Given the description of an element on the screen output the (x, y) to click on. 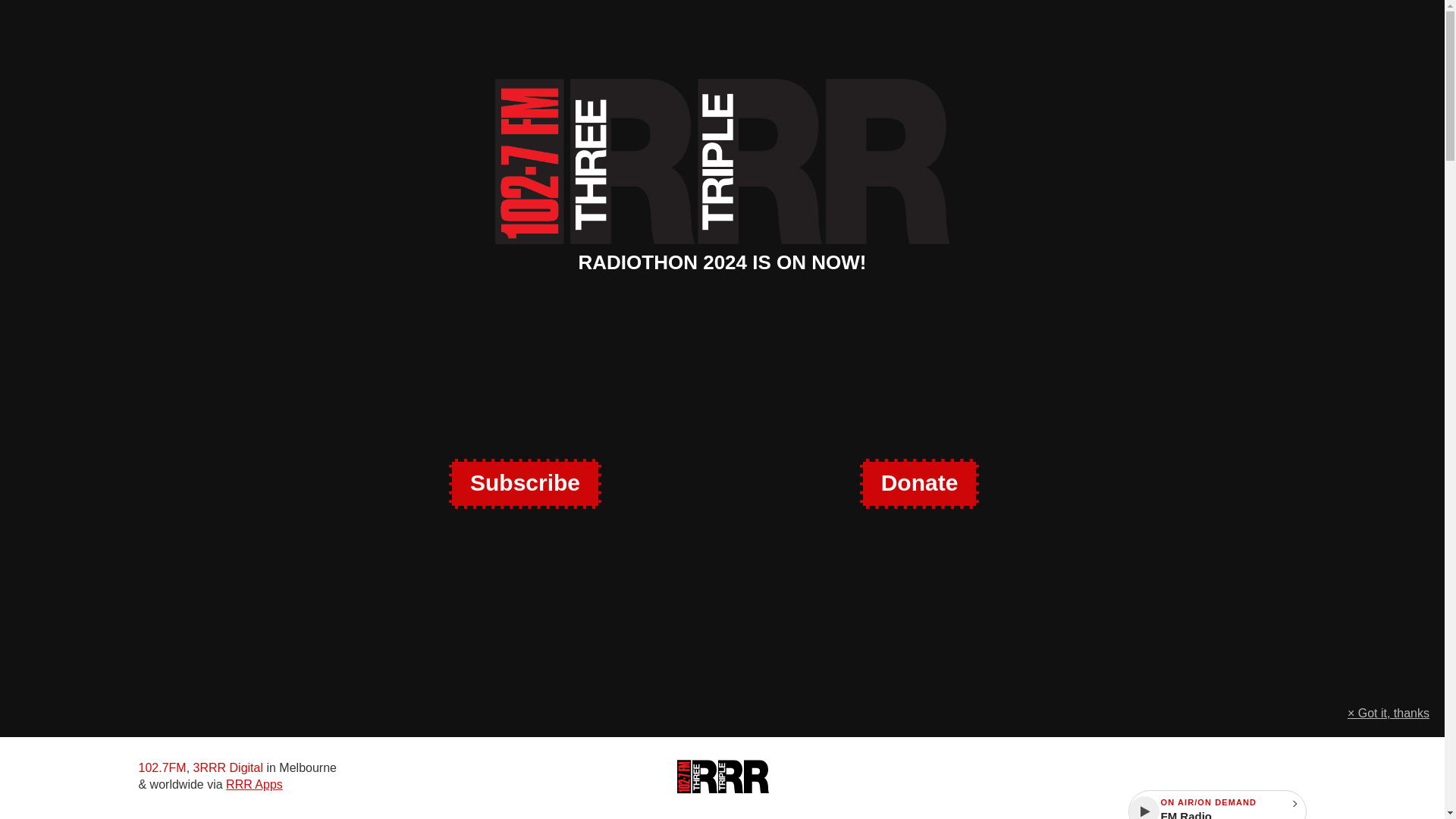
Subscribe (524, 483)
RRR Apps (253, 784)
Donate (919, 483)
Triple R logo (722, 776)
